Given the description of an element on the screen output the (x, y) to click on. 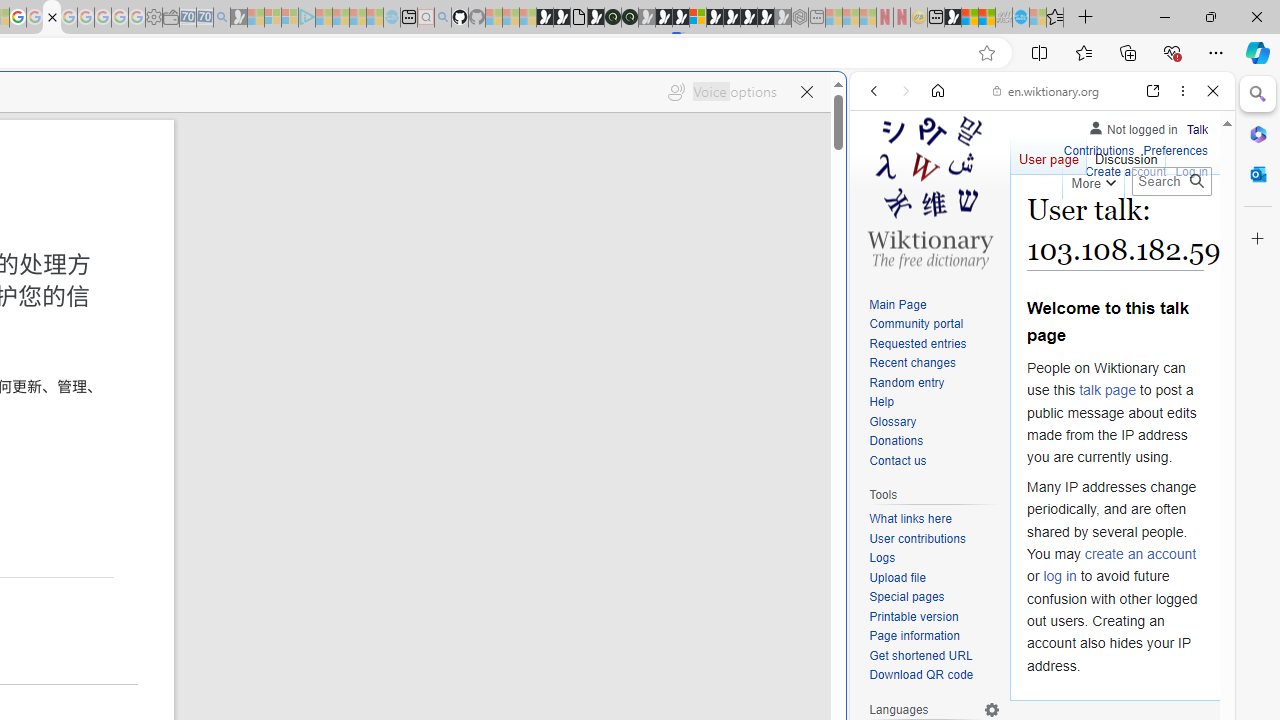
Page information (934, 637)
Create account (1125, 169)
Upload file (897, 577)
Recent changes (934, 363)
Close split screen (844, 102)
Search Filter, WEB (882, 228)
